Given the description of an element on the screen output the (x, y) to click on. 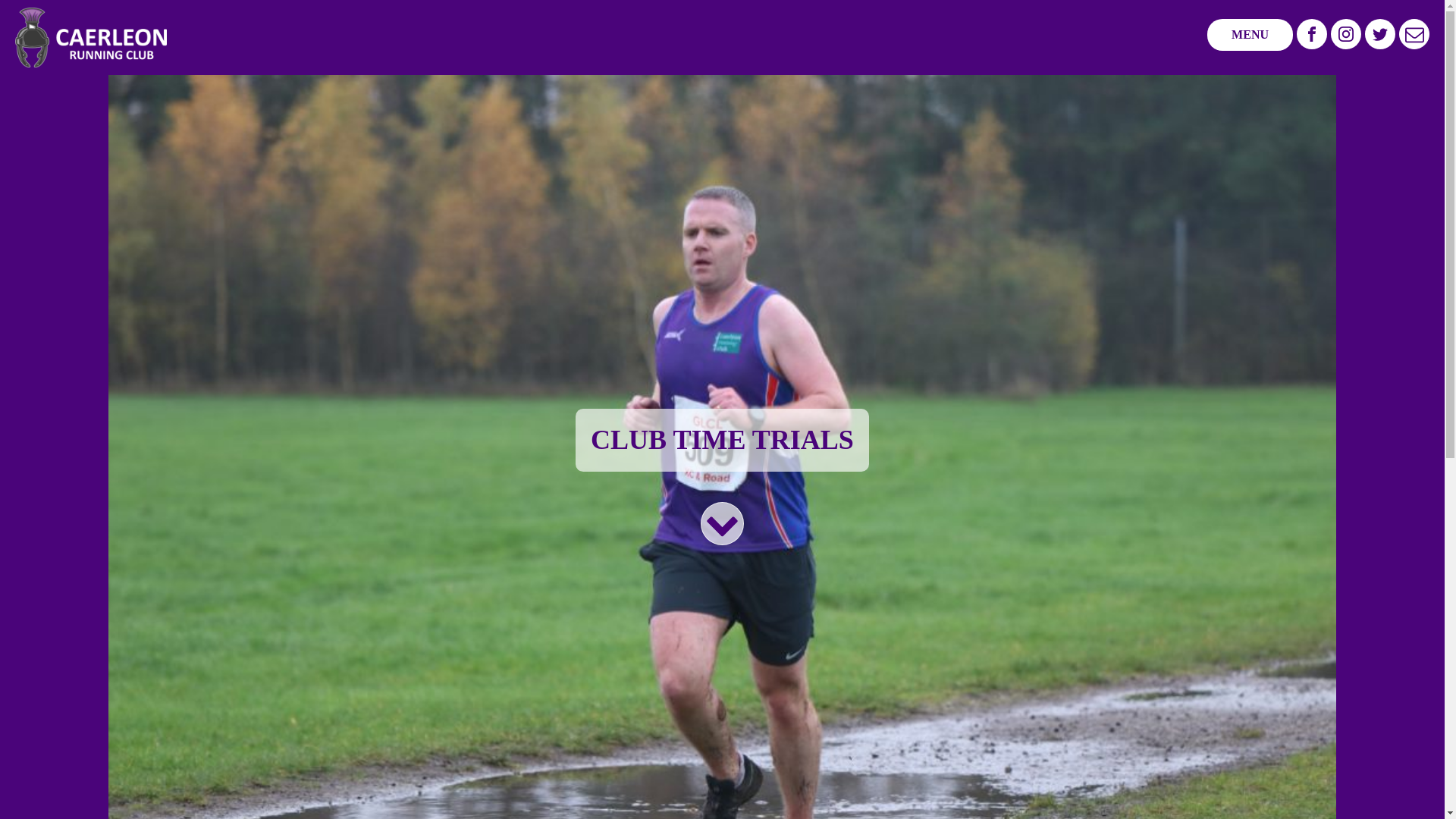
MENU (1249, 34)
